Given the description of an element on the screen output the (x, y) to click on. 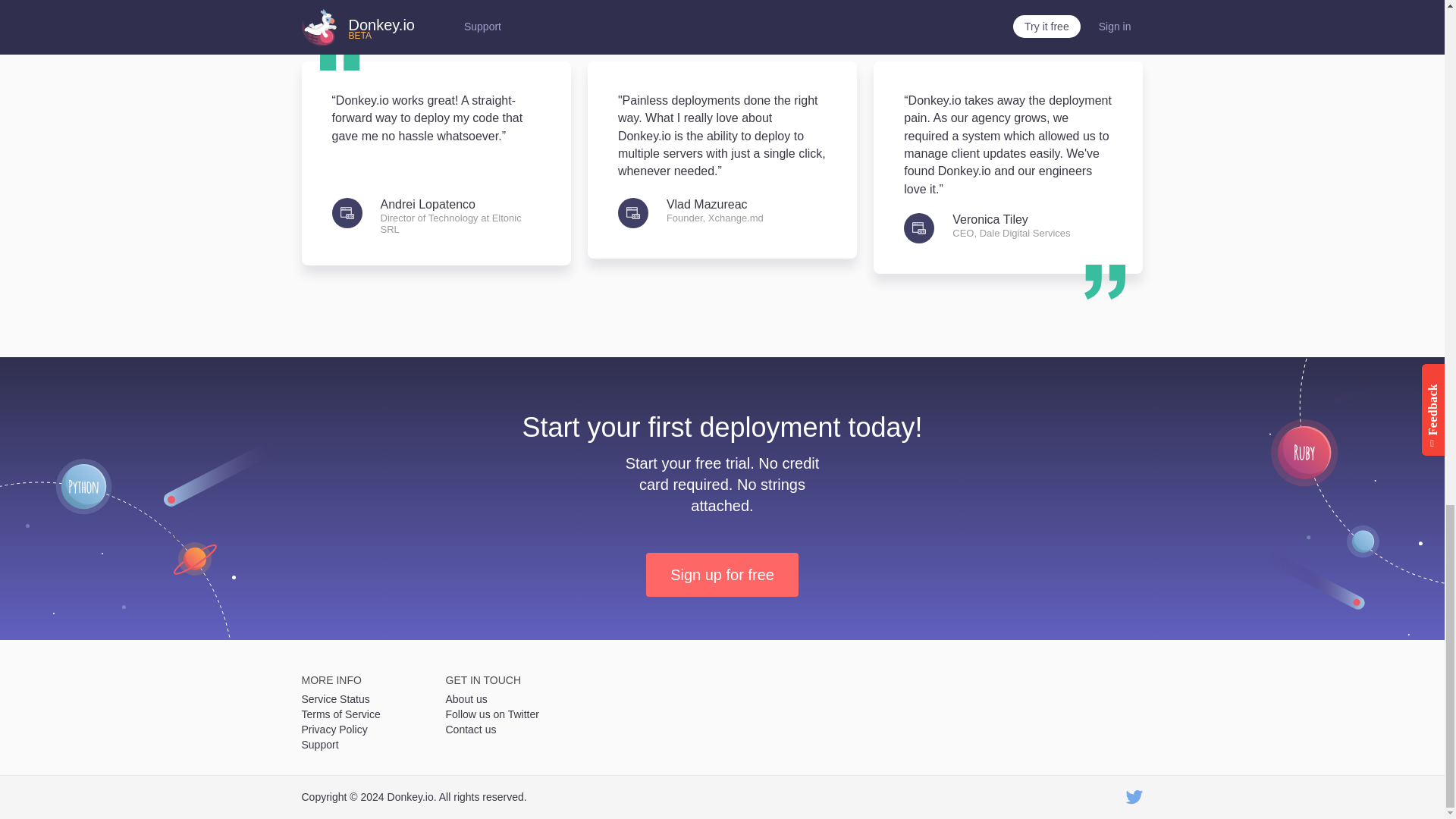
Privacy Policy (362, 729)
Terms of Service (362, 713)
Follow us on Twitter (506, 713)
Contact us (506, 729)
About us (506, 698)
Service Status (362, 698)
Sign up for free (721, 574)
Support (362, 744)
